Given the description of an element on the screen output the (x, y) to click on. 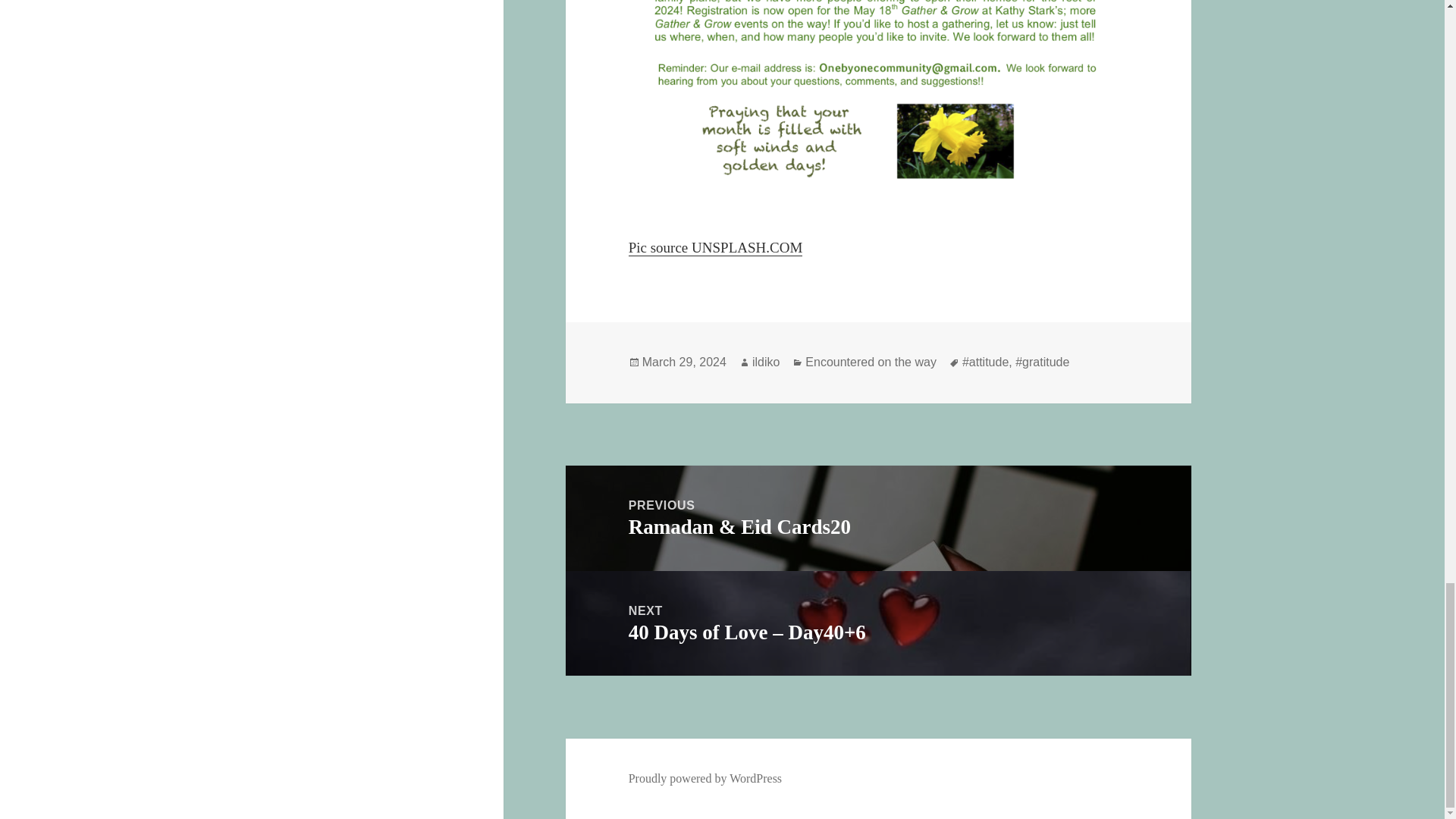
Pic source UNSPLASH.COM (715, 247)
March 29, 2024 (684, 362)
Encountered on the way (870, 362)
ildiko (765, 362)
